Given the description of an element on the screen output the (x, y) to click on. 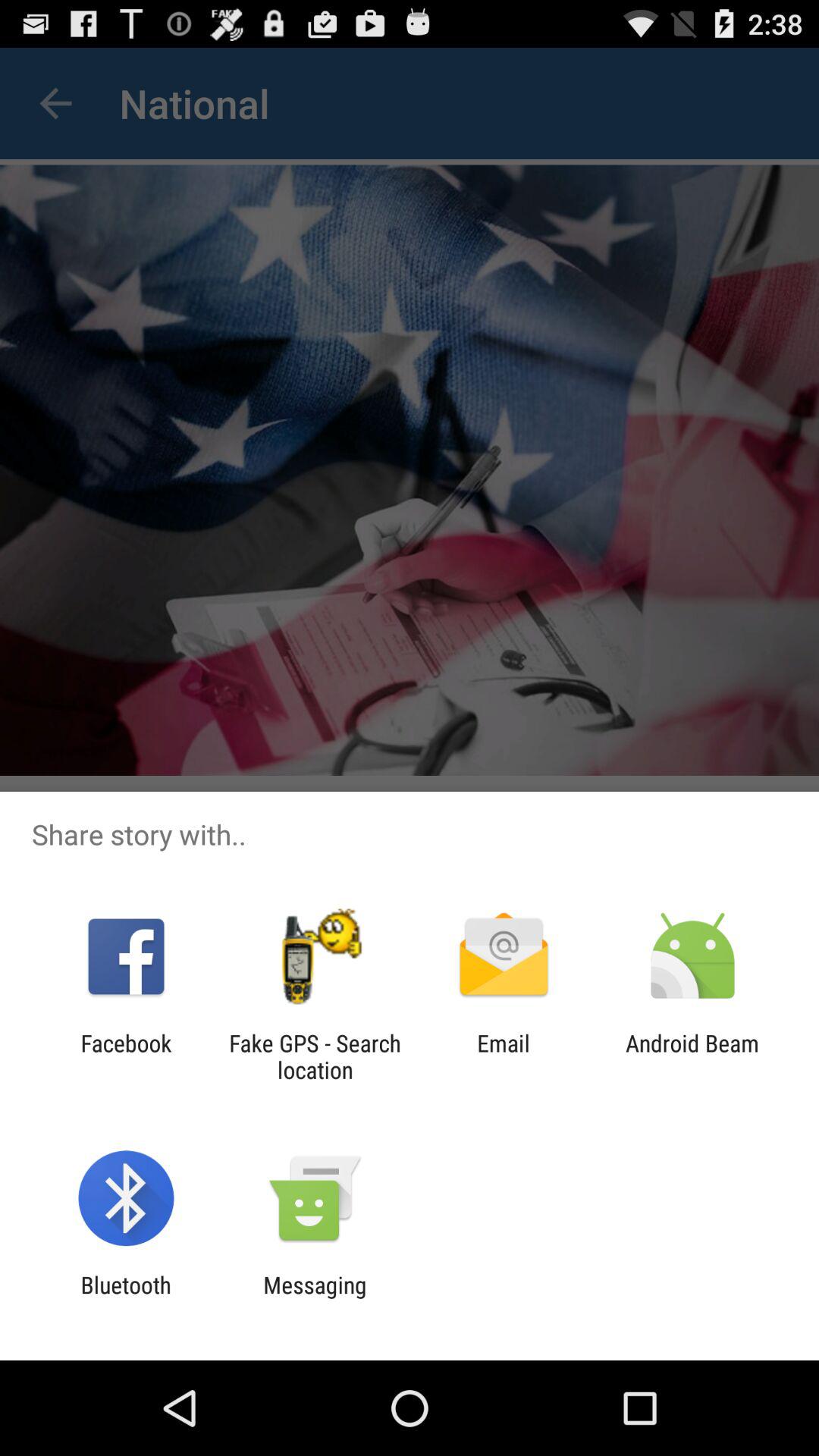
select facebook item (125, 1056)
